Given the description of an element on the screen output the (x, y) to click on. 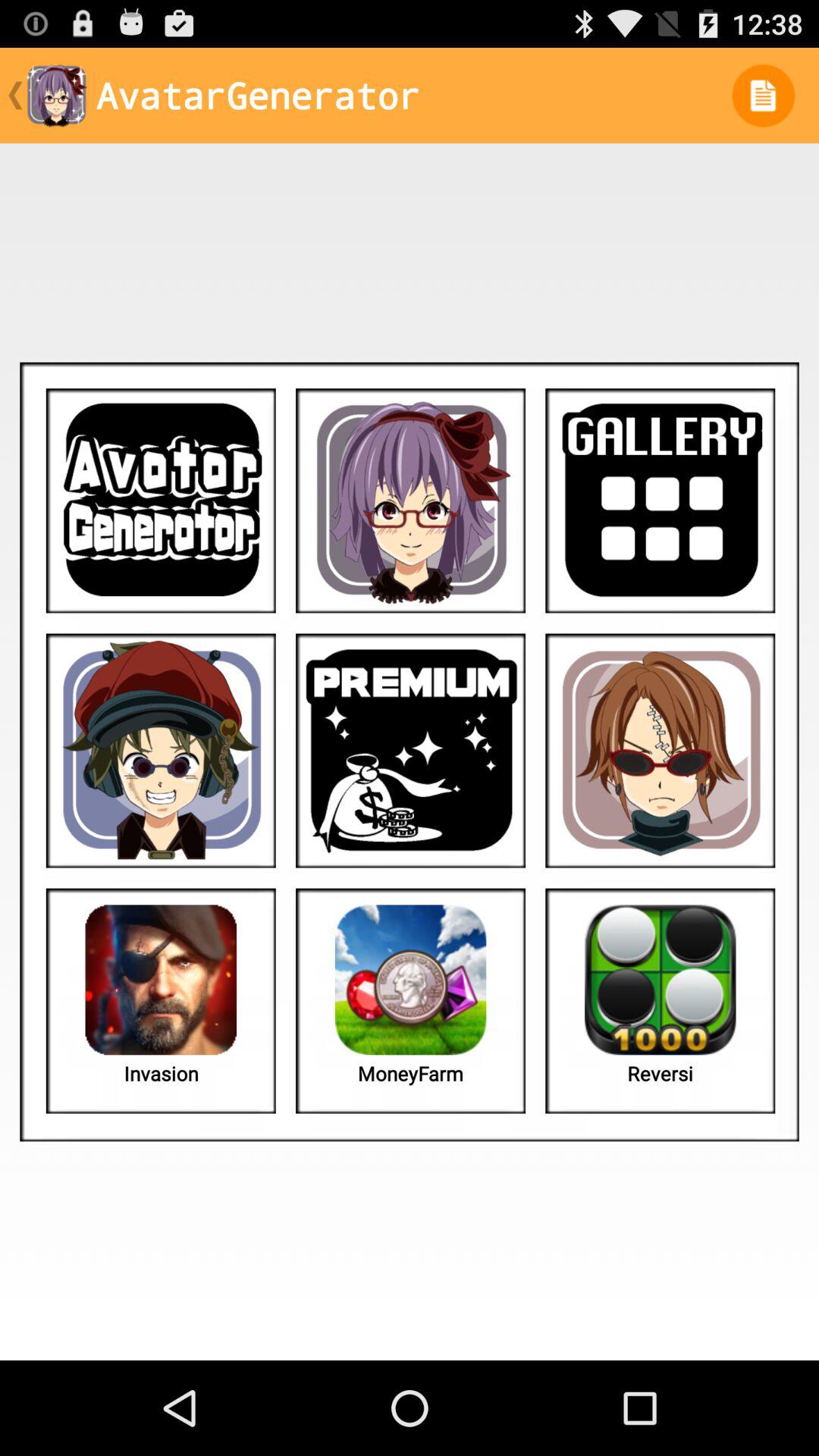
choose an avatar (160, 750)
